Given the description of an element on the screen output the (x, y) to click on. 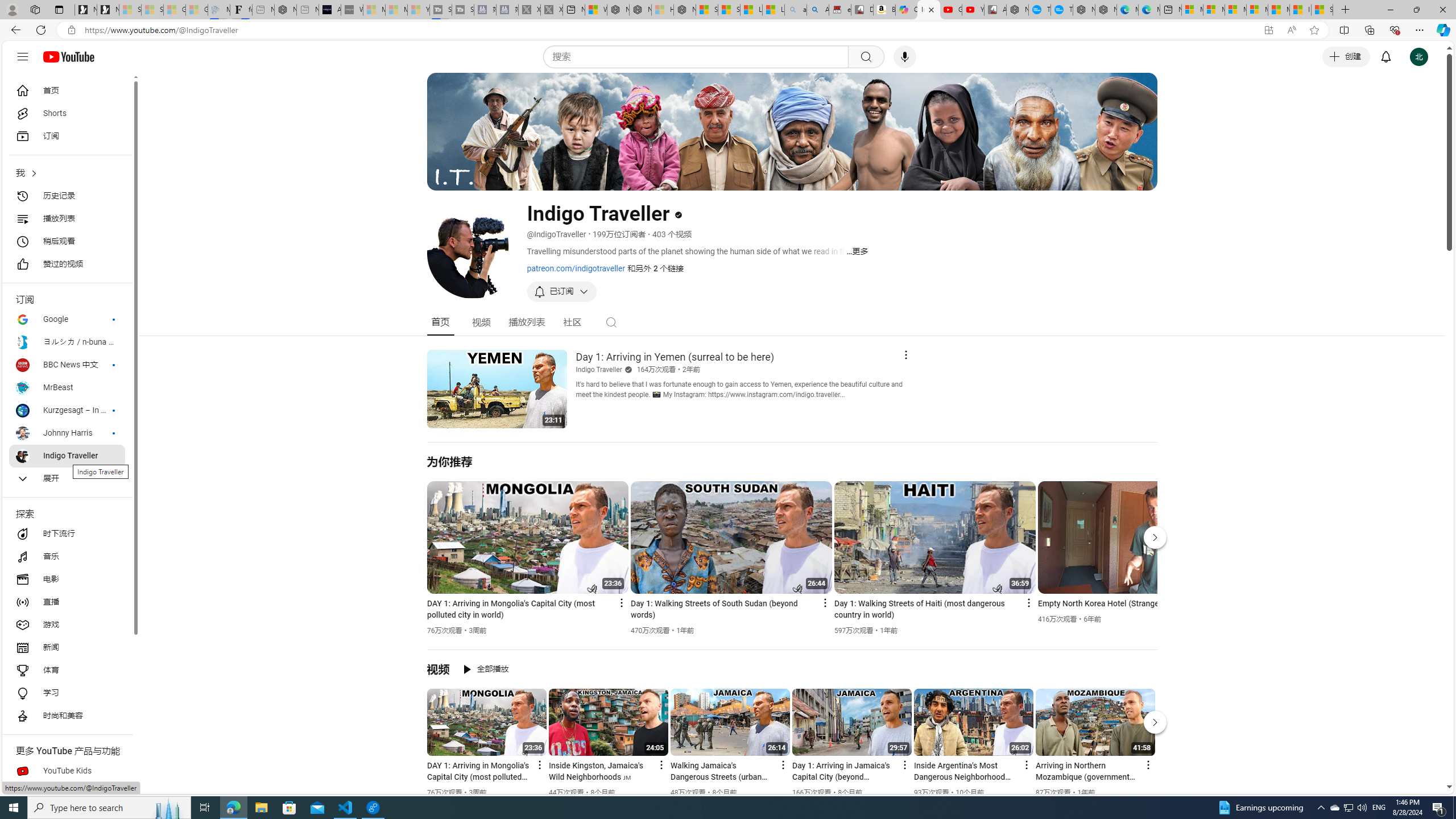
Nordace - Nordace Siena Is Not An Ordinary Backpack (684, 9)
Nordace - Nordace has arrived Hong Kong (1105, 9)
Gloom - YouTube (950, 9)
Amazon Echo Dot PNG - Search Images (818, 9)
